Given the description of an element on the screen output the (x, y) to click on. 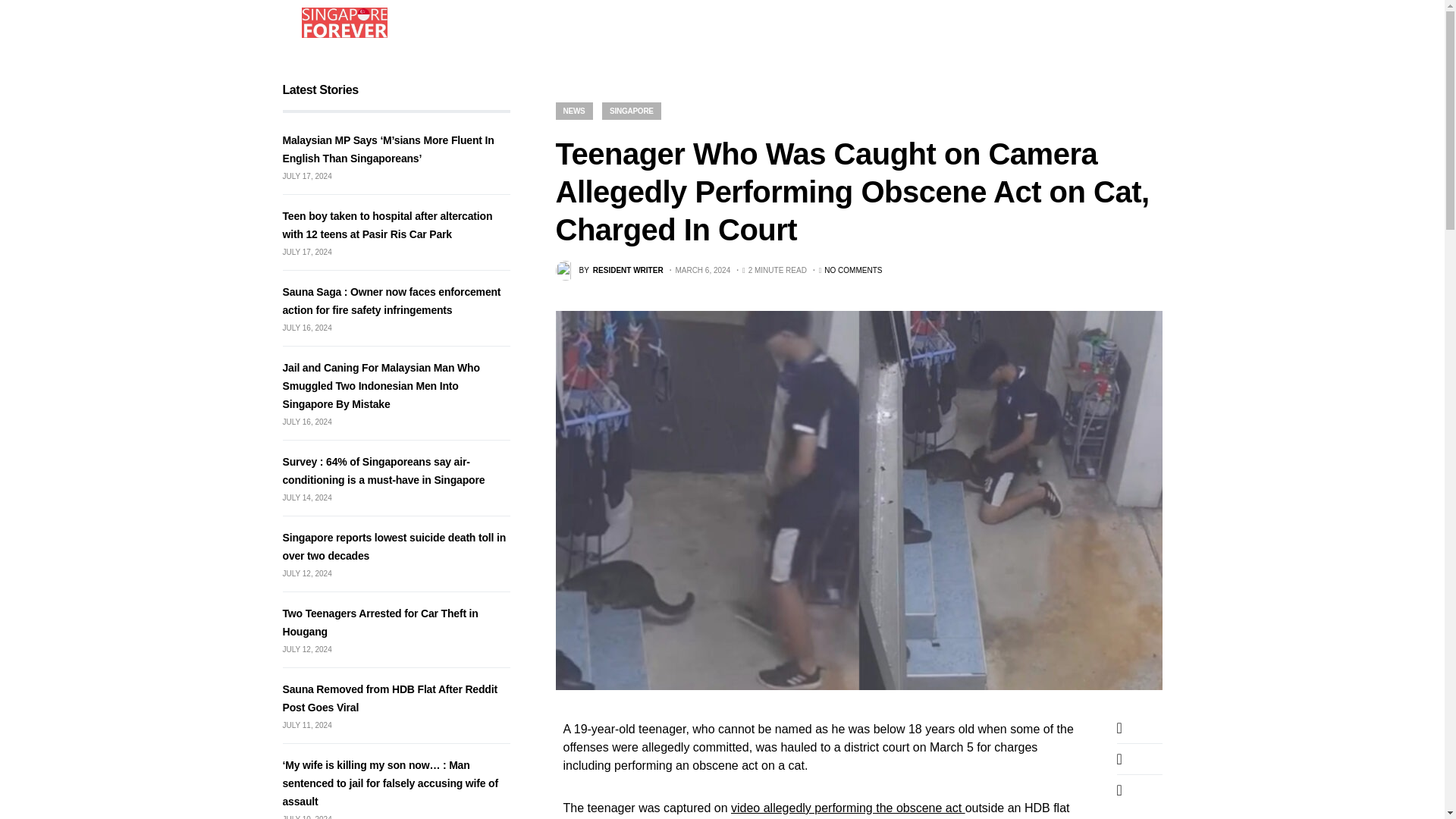
View all posts by Resident Writer (608, 270)
Commentary (761, 22)
video allegedly performing the obscene act  (847, 807)
Lifestyle (578, 22)
Entertainment (505, 22)
Business (640, 22)
